Given the description of an element on the screen output the (x, y) to click on. 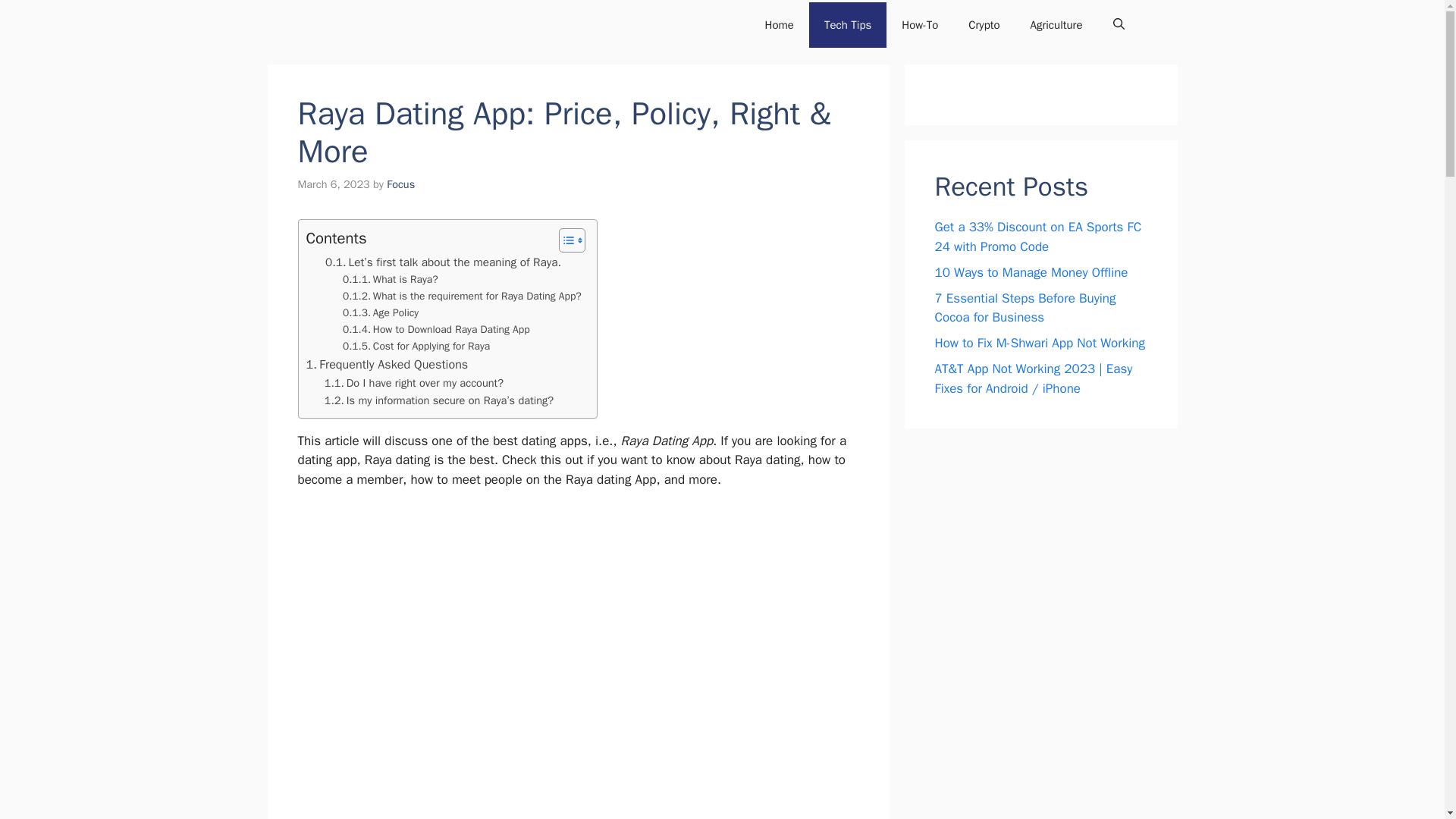
Agriculture (1055, 23)
How to Download Raya Dating App (435, 329)
Frequently Asked Questions (386, 364)
Cost for Applying for Raya (415, 346)
Crypto (983, 23)
Cost for Applying for Raya (415, 346)
What is Raya? (390, 279)
Focus (400, 183)
Age Policy (380, 312)
How to Download Raya Dating App (435, 329)
Home (779, 23)
Frequently Asked Questions (386, 364)
Tech Tips (847, 23)
What is the requirement for Raya Dating App? (461, 296)
Age Policy (380, 312)
